Given the description of an element on the screen output the (x, y) to click on. 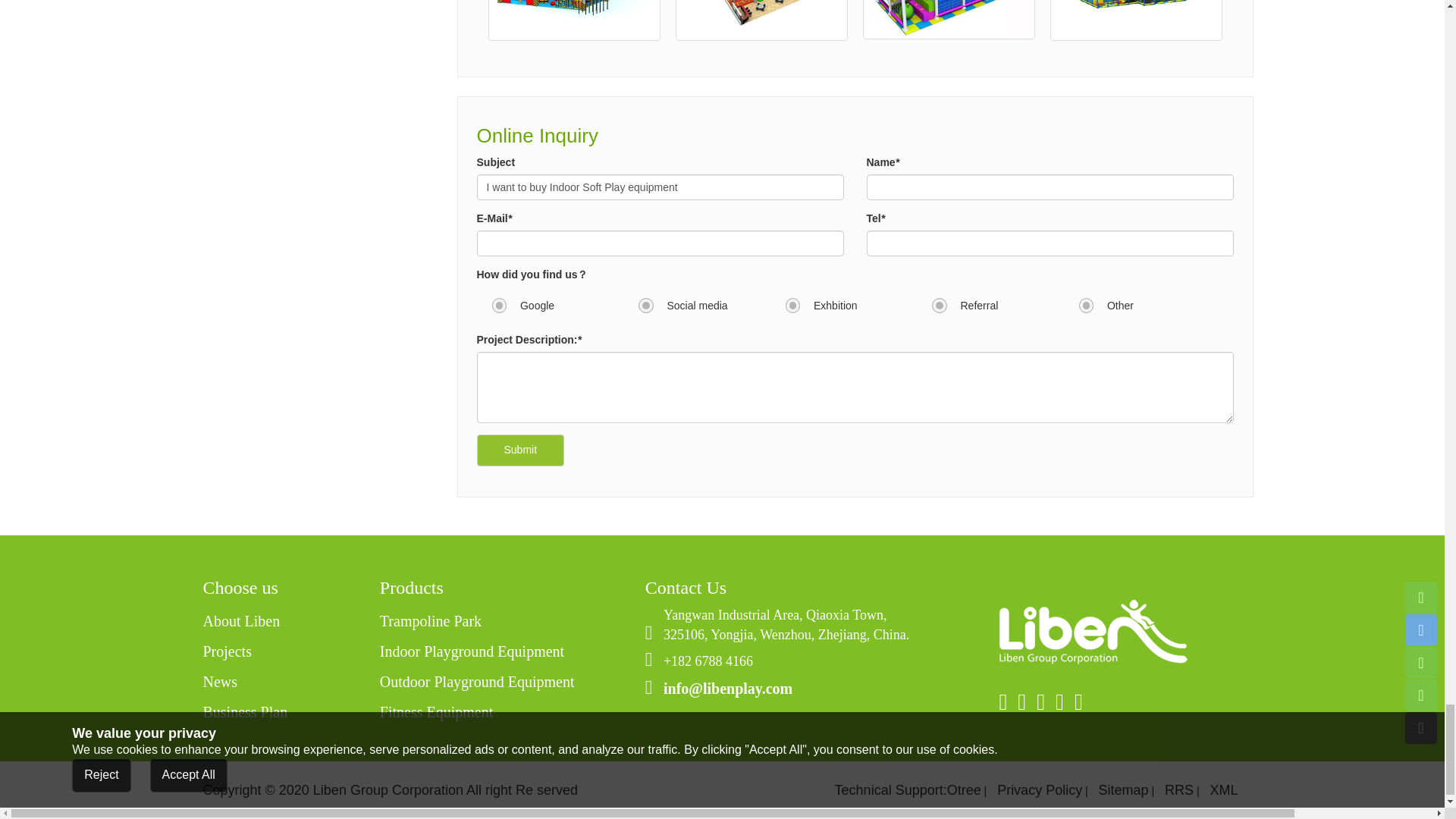
I want to buy Indoor Soft Play equipment (659, 186)
